Given the description of an element on the screen output the (x, y) to click on. 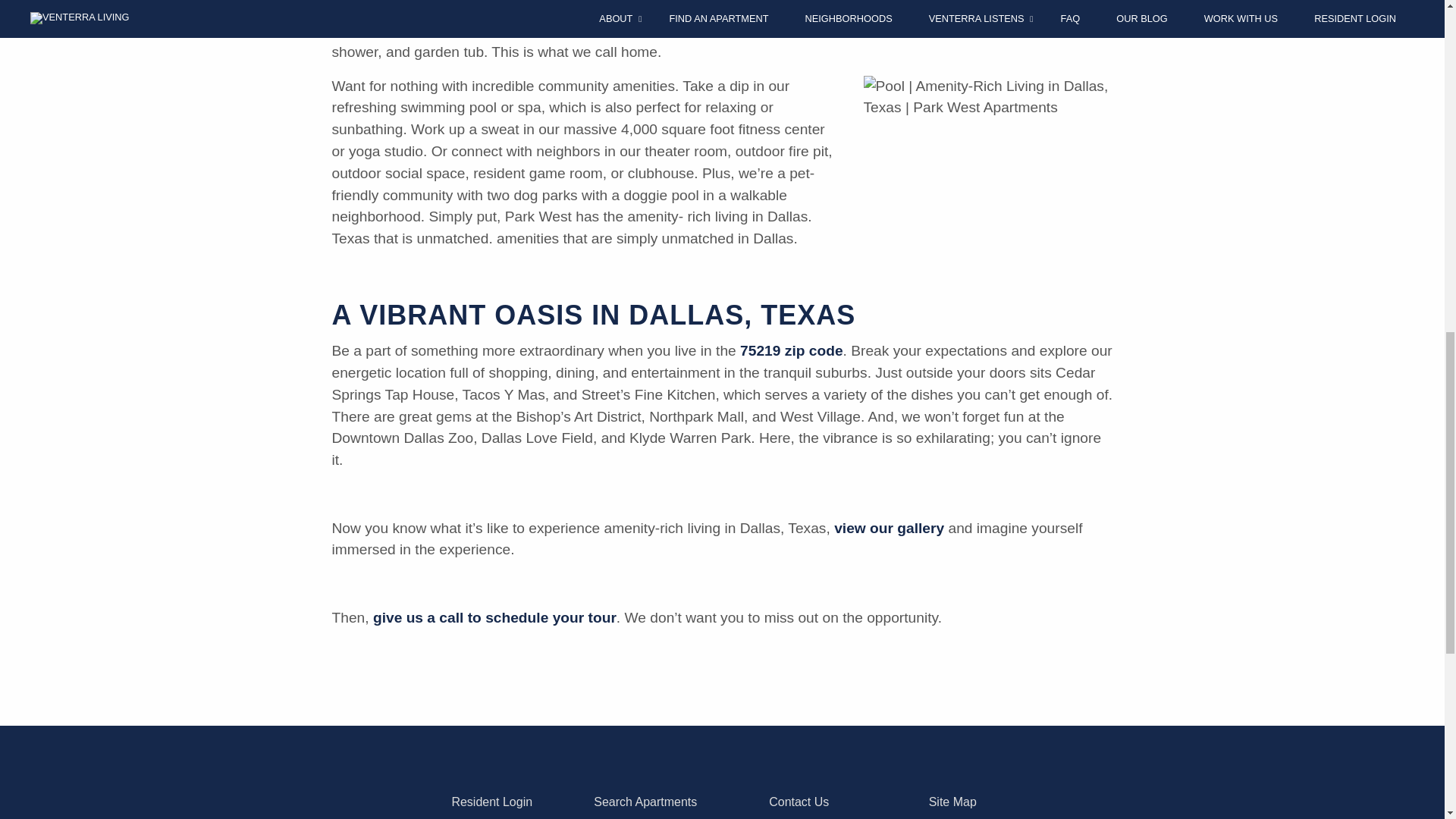
give us a call to schedule your tour (493, 617)
view our gallery (888, 528)
Search Apartments (645, 801)
Resident Login (491, 801)
75219 zip code (791, 350)
